Given the description of an element on the screen output the (x, y) to click on. 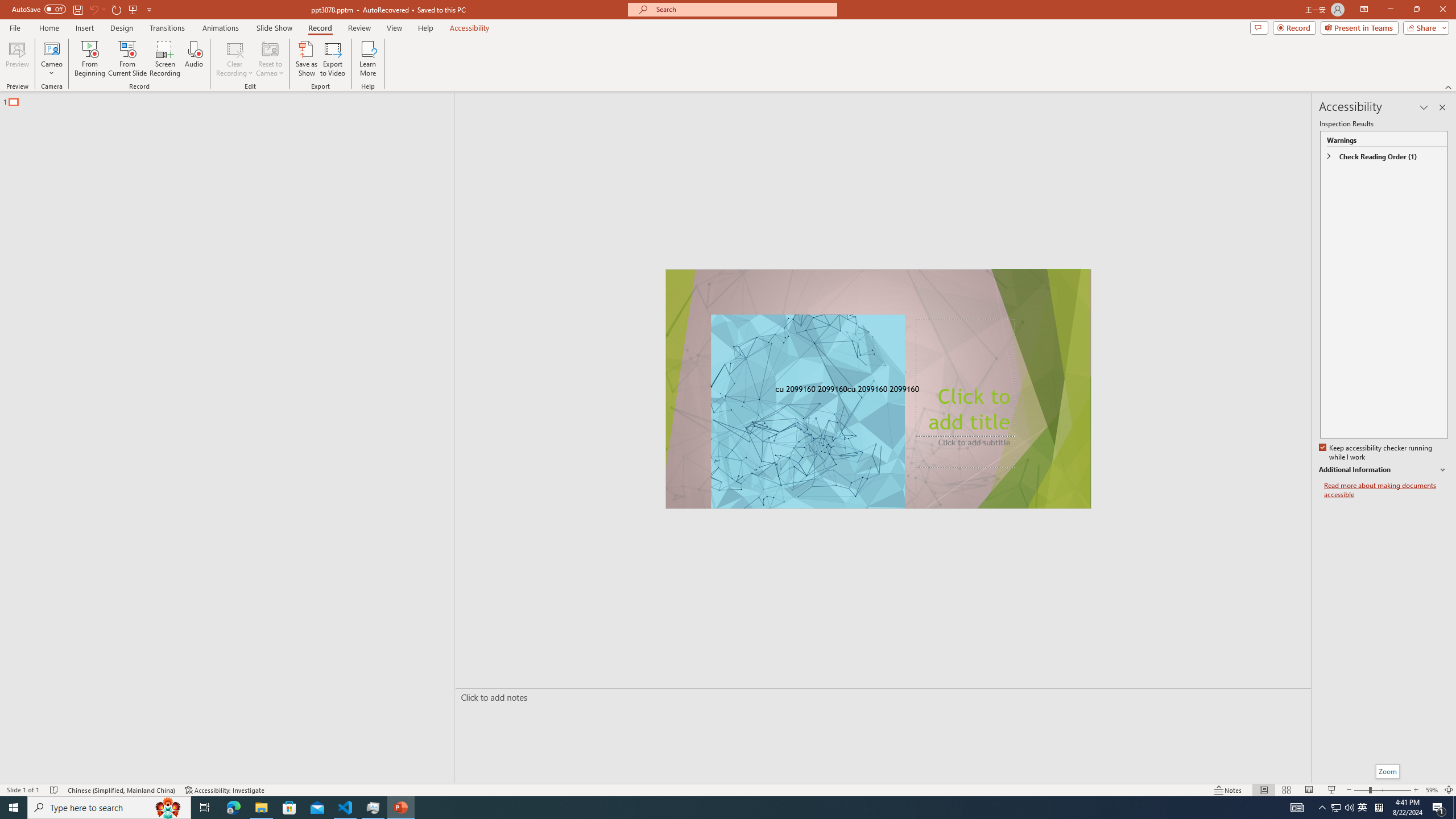
Zoom 59% (1431, 790)
